Given the description of an element on the screen output the (x, y) to click on. 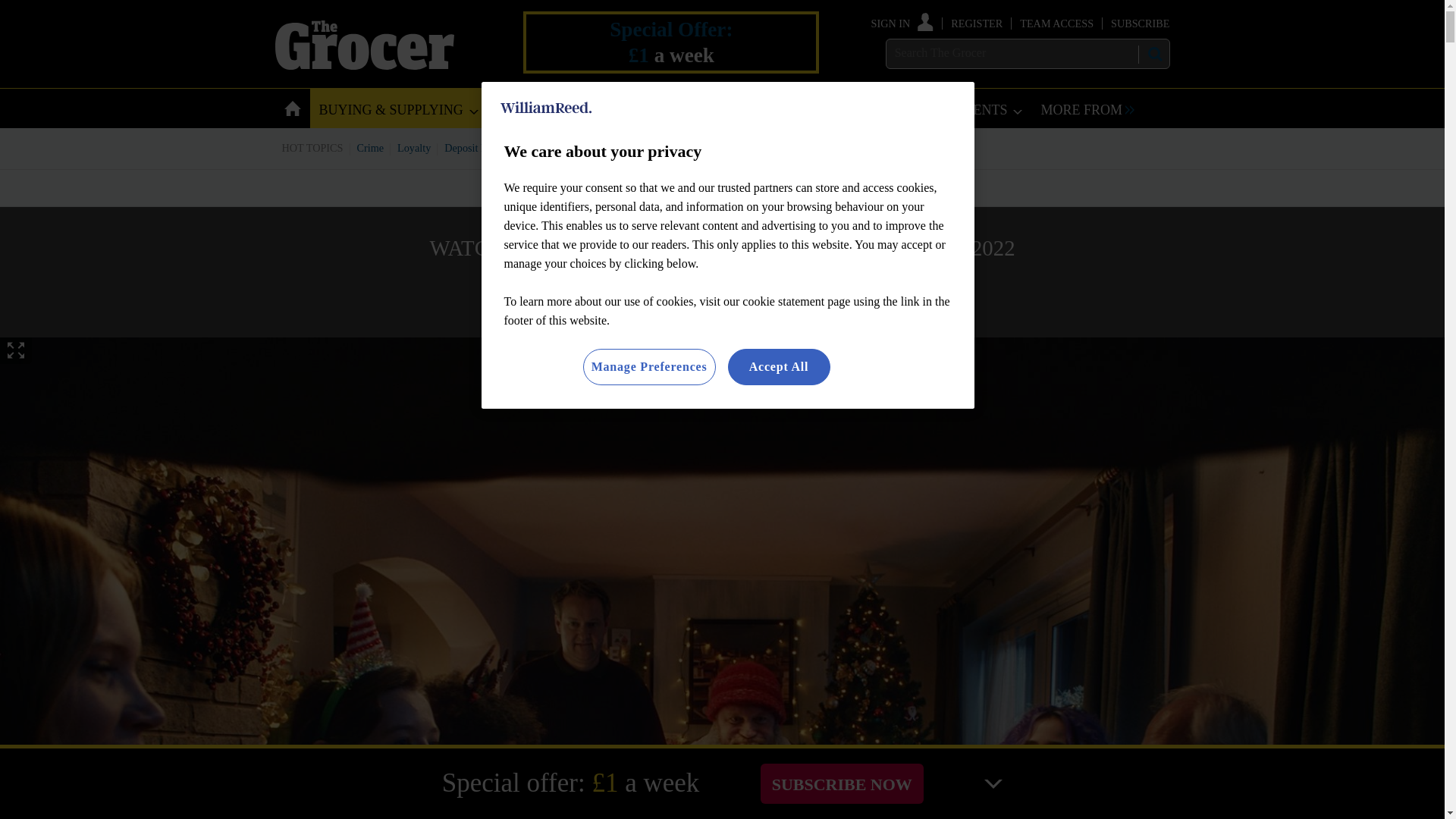
KVI price tracker (602, 147)
REGISTER (976, 23)
Vaping (774, 147)
Site name (363, 65)
Crime (370, 147)
SIGN IN (902, 23)
SUBSCRIBE NOW (841, 783)
Cost of Living Crisis (699, 147)
Loyalty (414, 147)
Deposit Return Schemes (497, 147)
SEARCH (1153, 53)
SUBSCRIBE (1139, 23)
TEAM ACCESS (1056, 23)
